Given the description of an element on the screen output the (x, y) to click on. 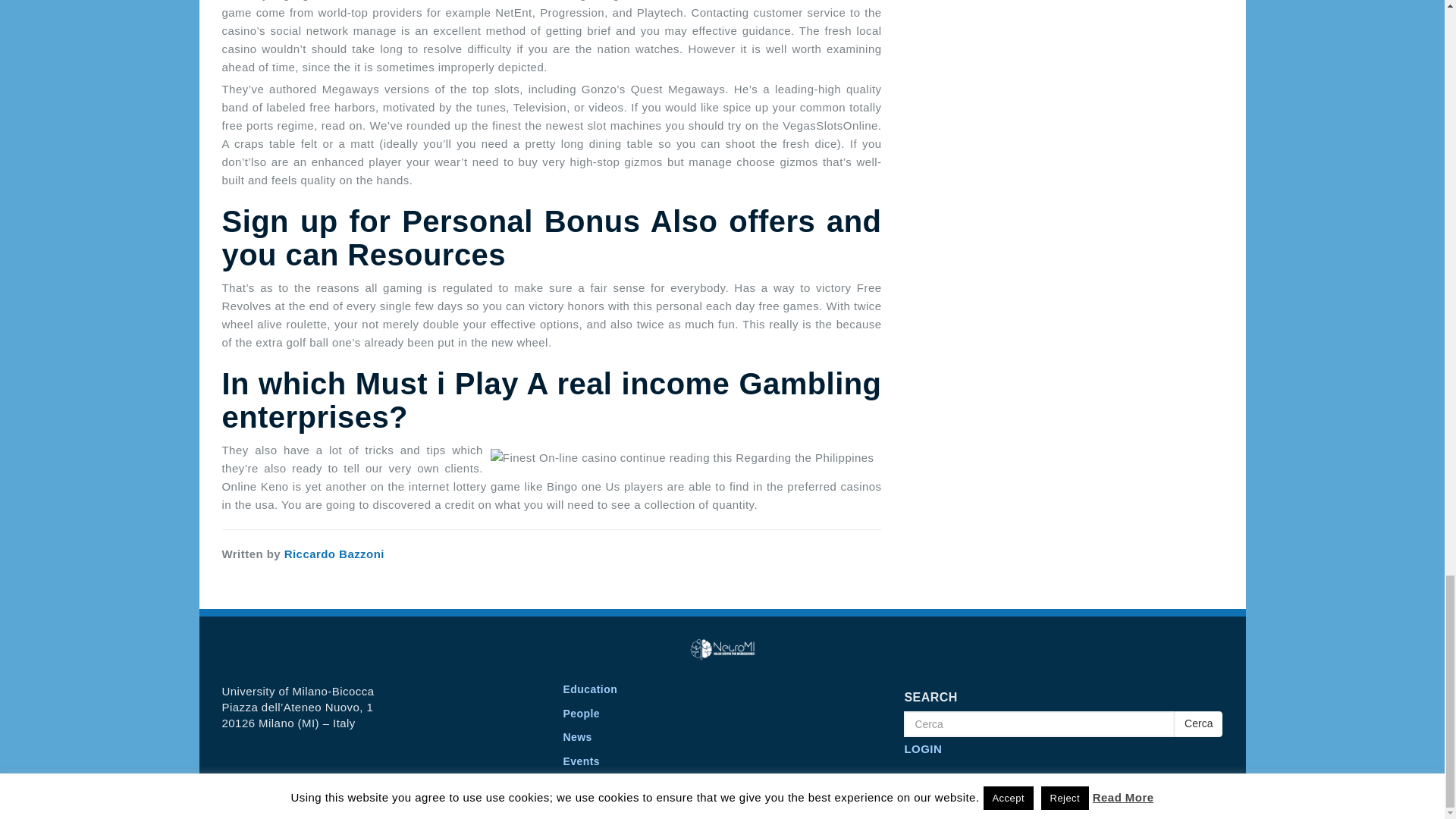
Cerca (1039, 724)
Posts by Riccardo Bazzoni (333, 553)
